Given the description of an element on the screen output the (x, y) to click on. 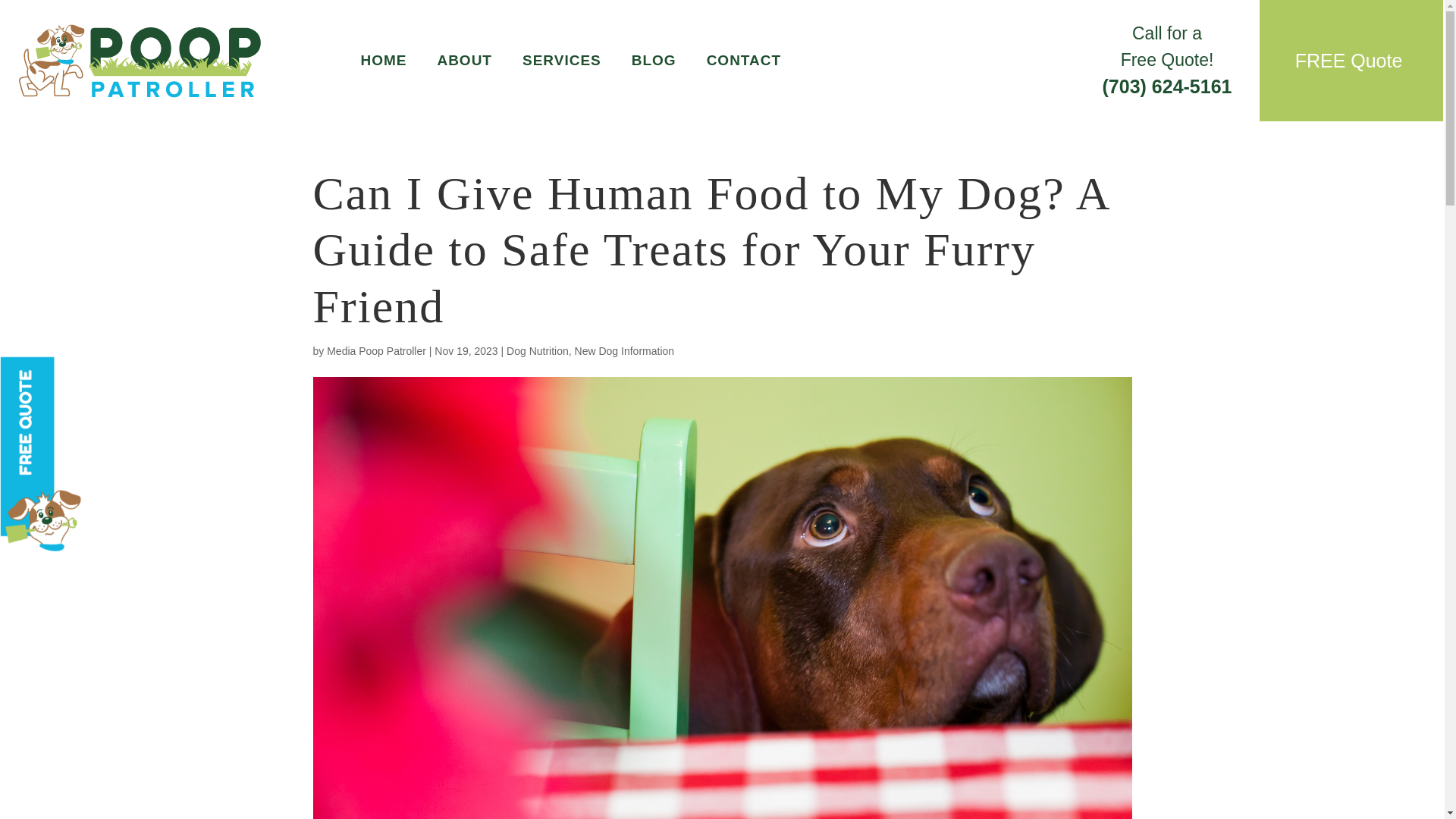
Media Poop Patroller (376, 350)
SERVICES (561, 60)
FREE Quote (1348, 60)
FREE QUOTE (828, 433)
Dog Nutrition (537, 350)
Posts by Media Poop Patroller (376, 350)
New Dog Information (625, 350)
CONTACT (743, 60)
